Given the description of an element on the screen output the (x, y) to click on. 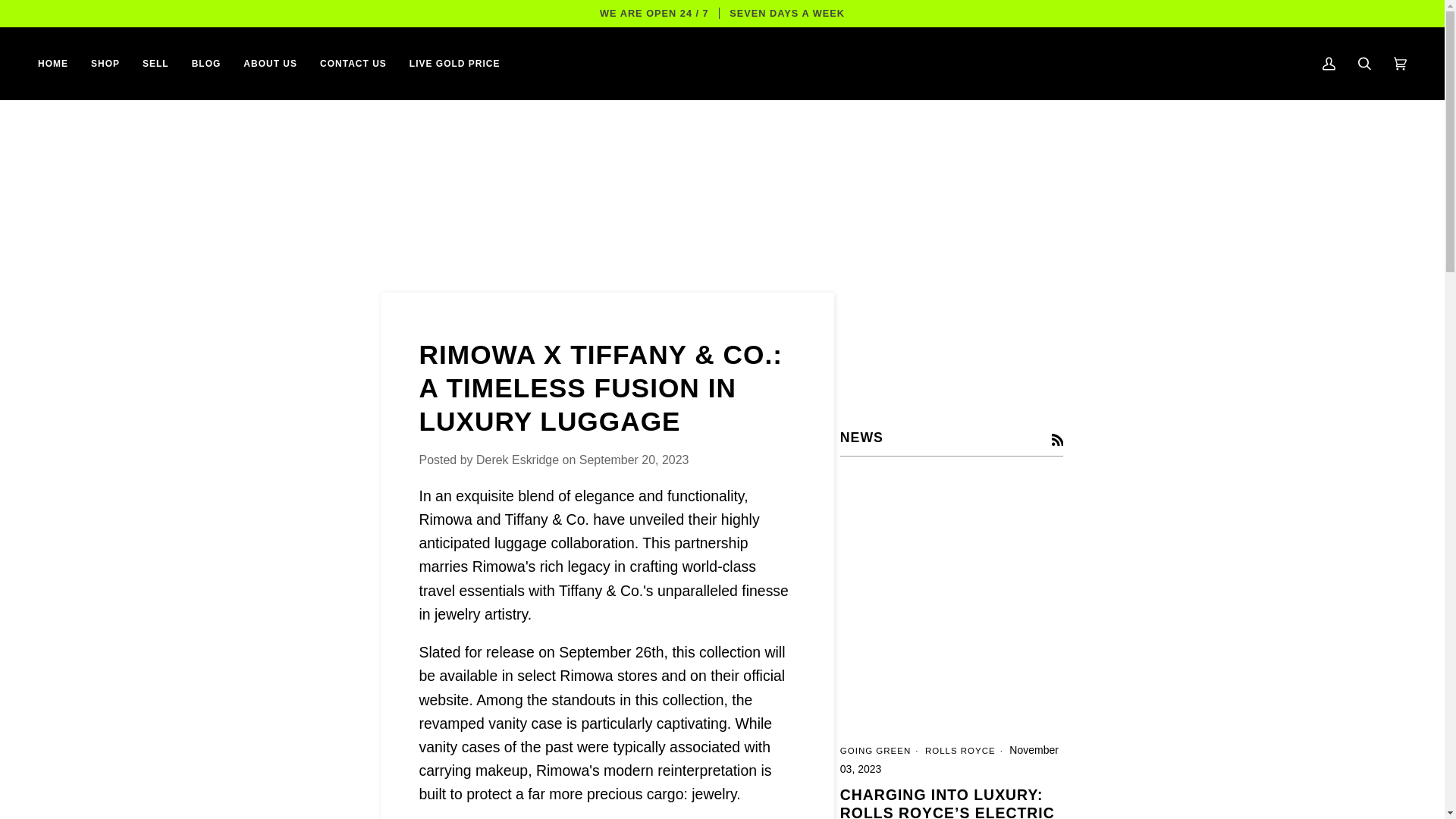
LIVE GOLD PRICE (454, 63)
ABOUT US (269, 63)
CONTACT US (352, 63)
